Given the description of an element on the screen output the (x, y) to click on. 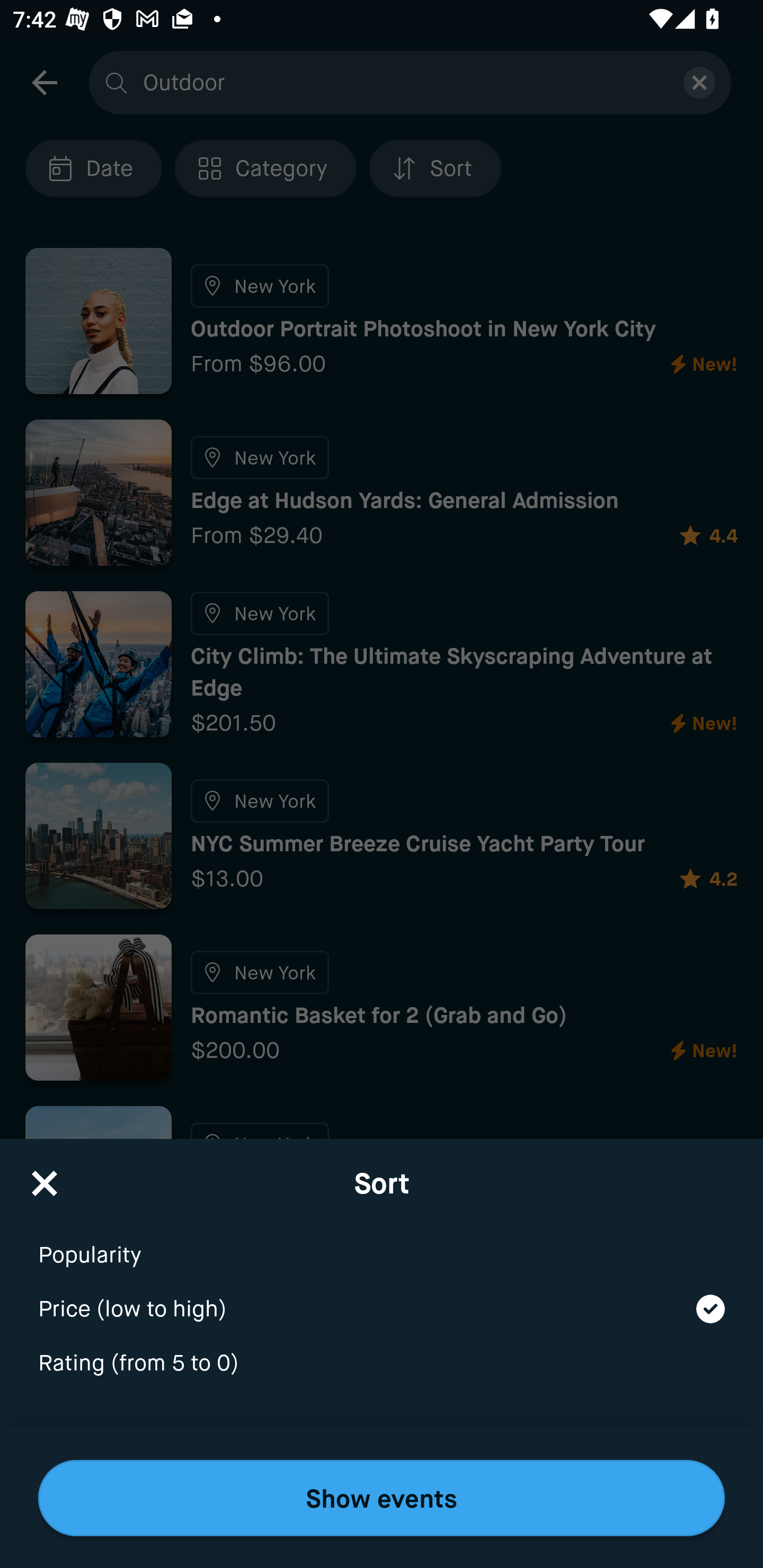
CloseButton (44, 1177)
Popularity (381, 1243)
Price (low to high) Selected Icon (381, 1297)
Rating (from 5 to 0) (381, 1362)
Show events (381, 1497)
